Given the description of an element on the screen output the (x, y) to click on. 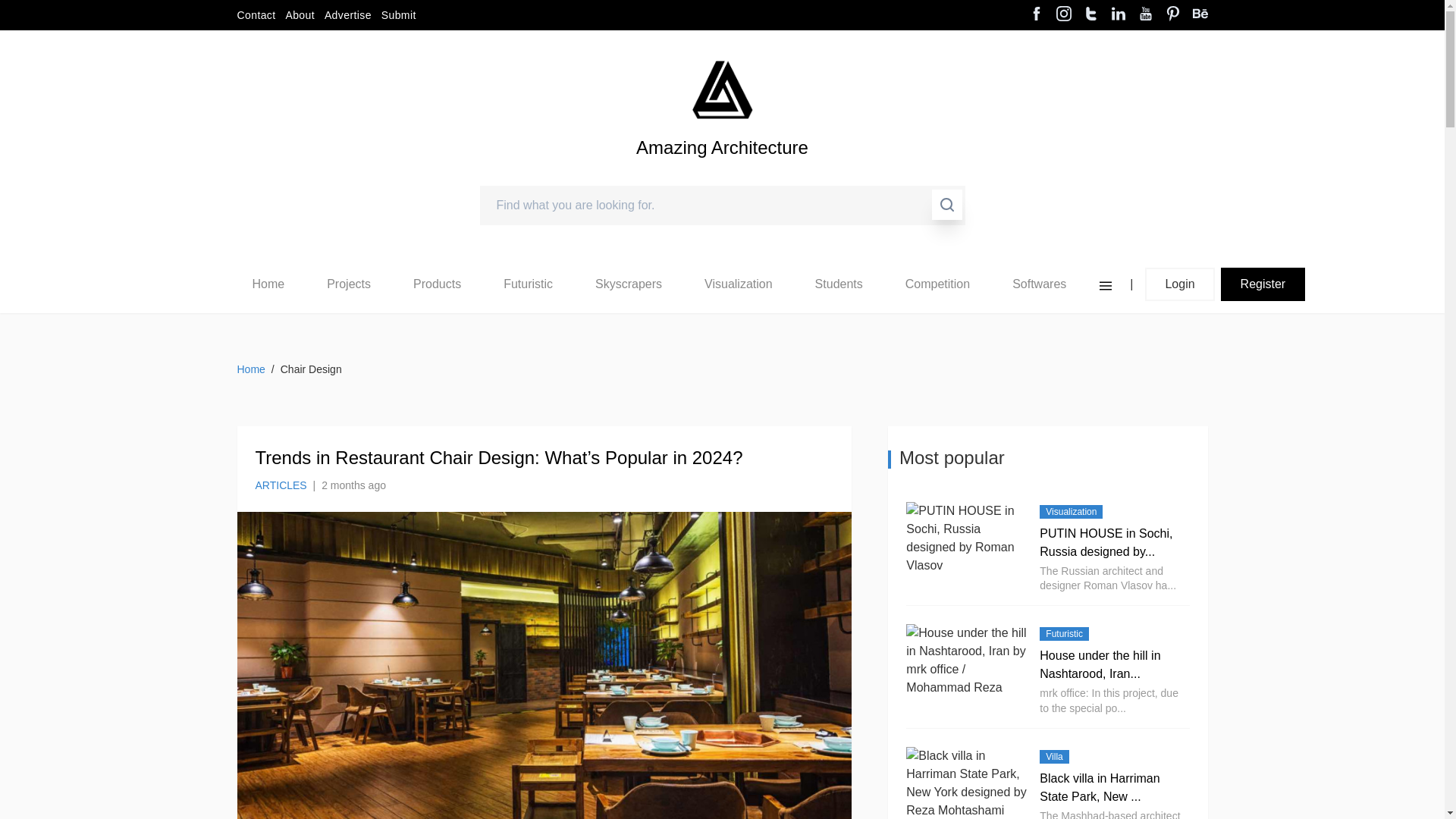
Amazing Architecture (722, 173)
Products (437, 283)
Futuristic (528, 283)
Submit (398, 15)
About (299, 15)
Home (267, 283)
Amazing Architecture (721, 88)
Home (267, 284)
Contact (255, 15)
Advertise (347, 15)
